Given the description of an element on the screen output the (x, y) to click on. 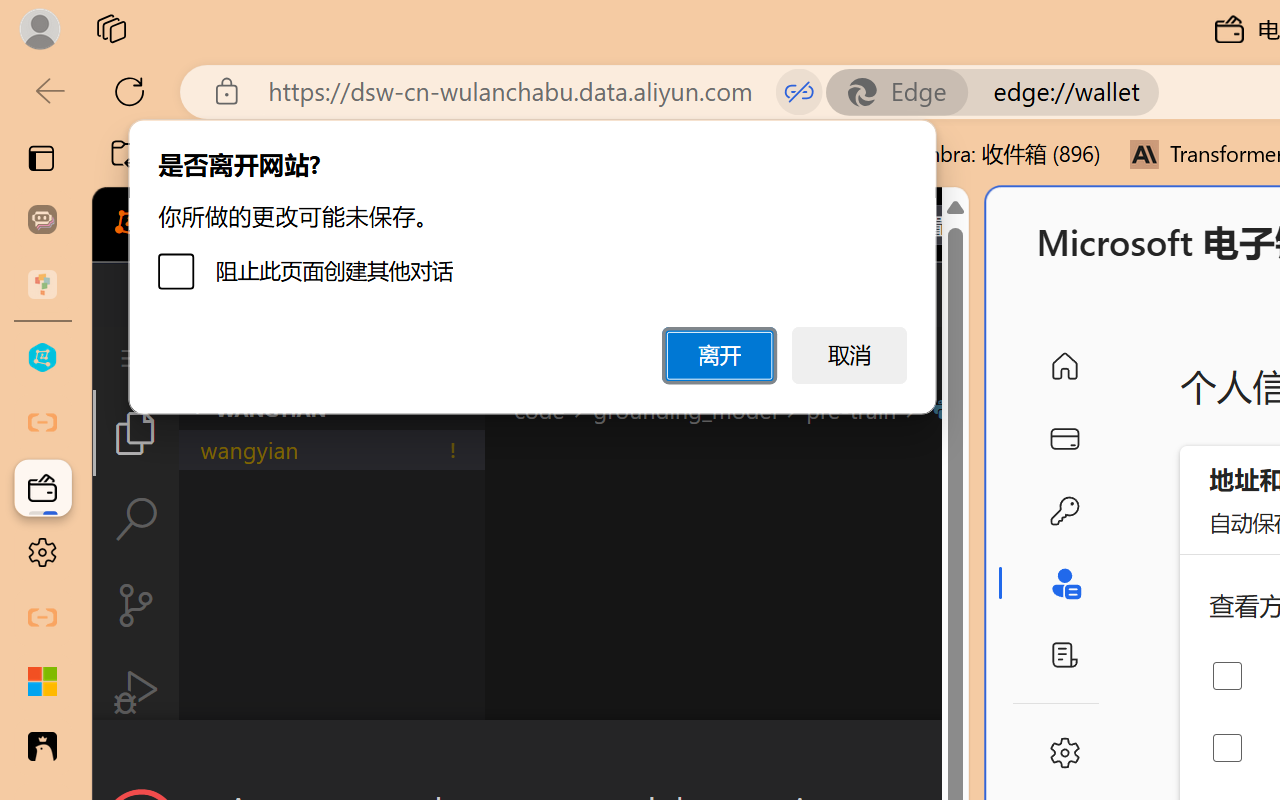
Class: actions-container (529, 756)
Close Dialog (959, 756)
Run and Debug (Ctrl+Shift+D) (135, 692)
